Given the description of an element on the screen output the (x, y) to click on. 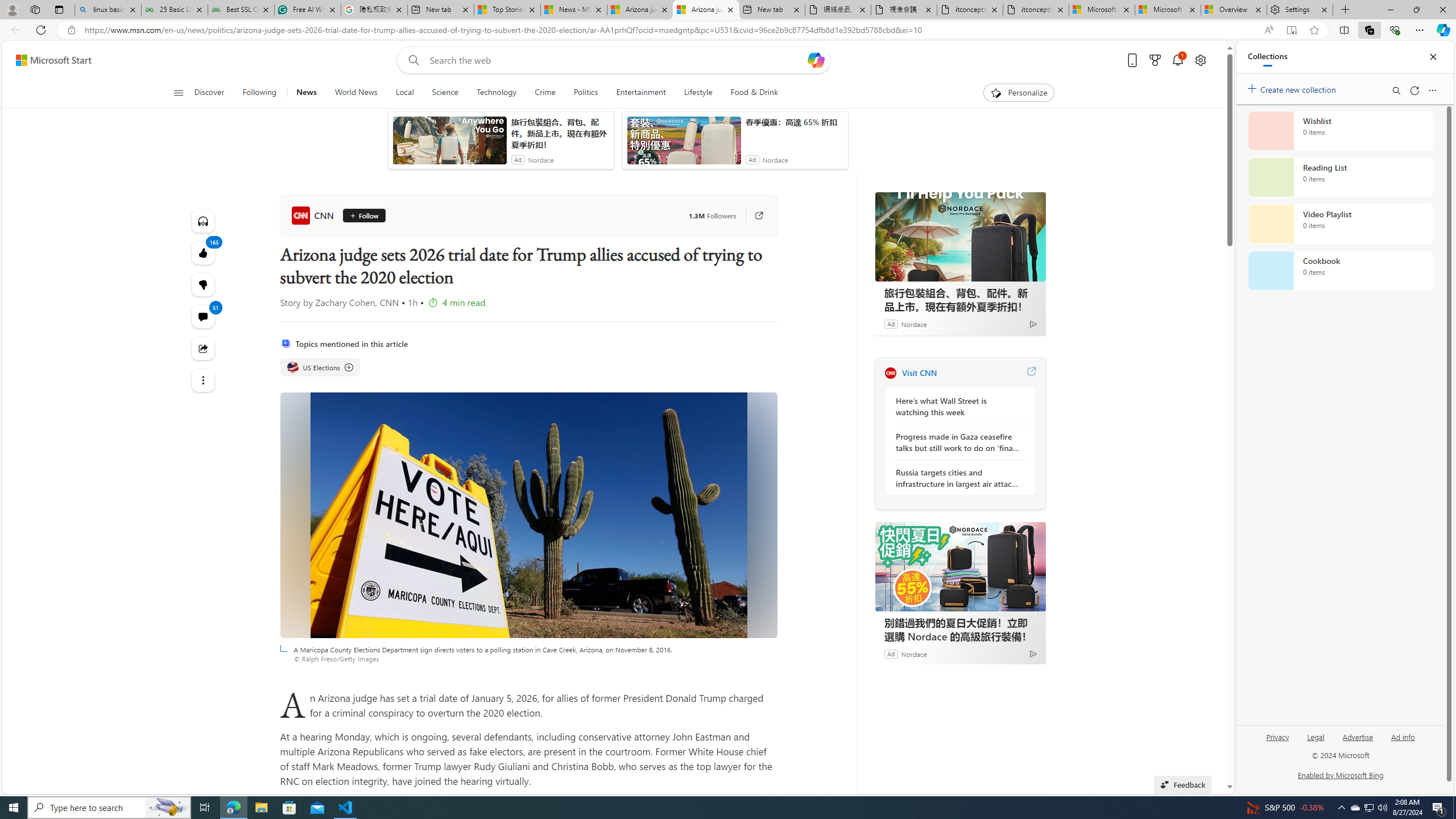
Wishlist collection, 0 items (1339, 130)
Personalize (1019, 92)
165 (202, 284)
Enter Immersive Reader (F9) (1291, 29)
Go to publisher's site (752, 215)
Privacy (1278, 736)
Web search (411, 60)
Local (404, 92)
CNN (889, 372)
Best SSL Certificates Provider in India - GeeksforGeeks (240, 9)
Share this story (202, 348)
